Given the description of an element on the screen output the (x, y) to click on. 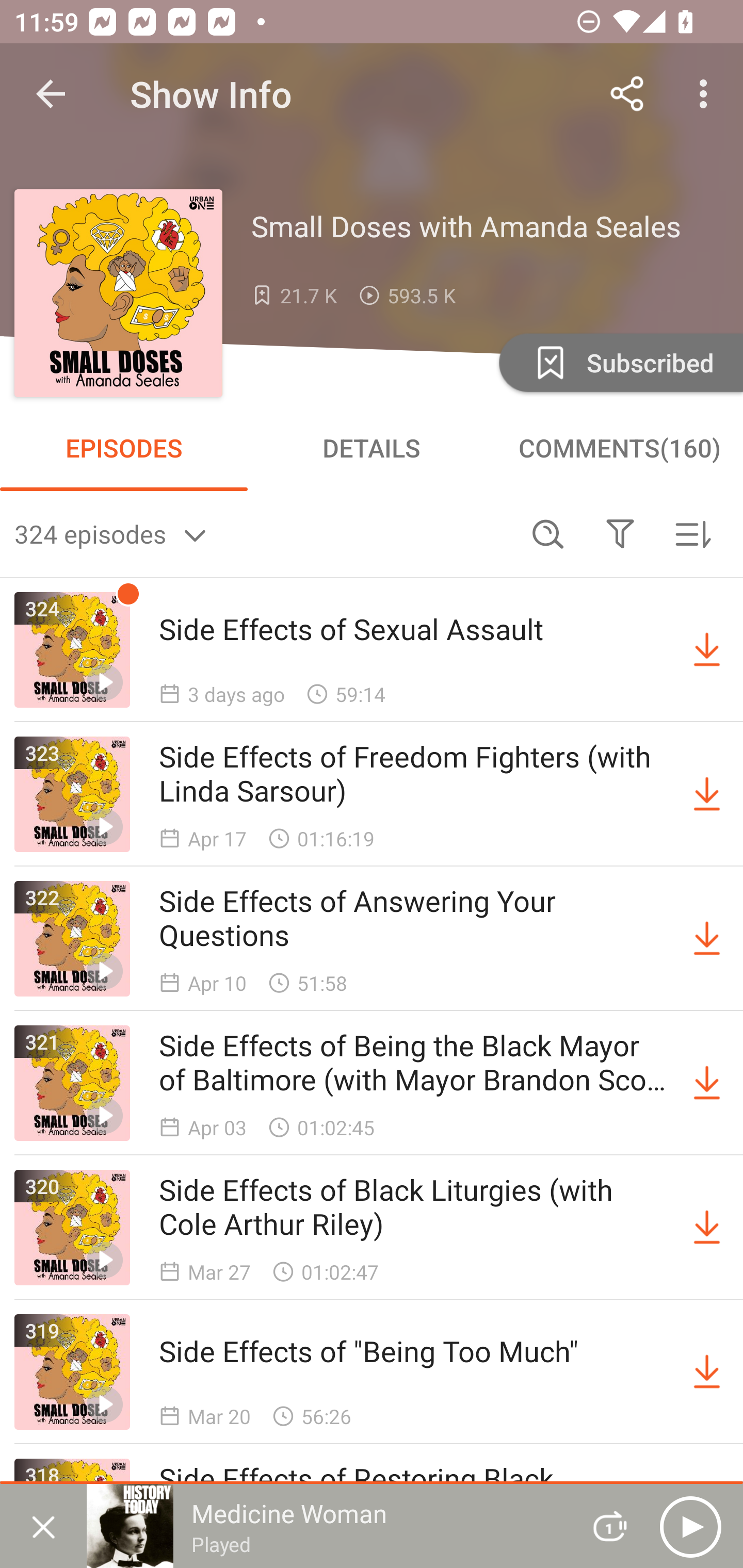
Navigate up (50, 93)
Share (626, 93)
More options (706, 93)
Unsubscribe Subscribed (619, 361)
EPISODES (123, 447)
DETAILS (371, 447)
COMMENTS(160) (619, 447)
324 episodes  (262, 533)
 Search (547, 533)
 (619, 533)
 Sorted by newest first (692, 533)
Download (706, 649)
Download (706, 793)
Download (706, 939)
Download (706, 1083)
Download (706, 1227)
Download (706, 1371)
Medicine Woman Played (326, 1525)
Play (690, 1526)
